Given the description of an element on the screen output the (x, y) to click on. 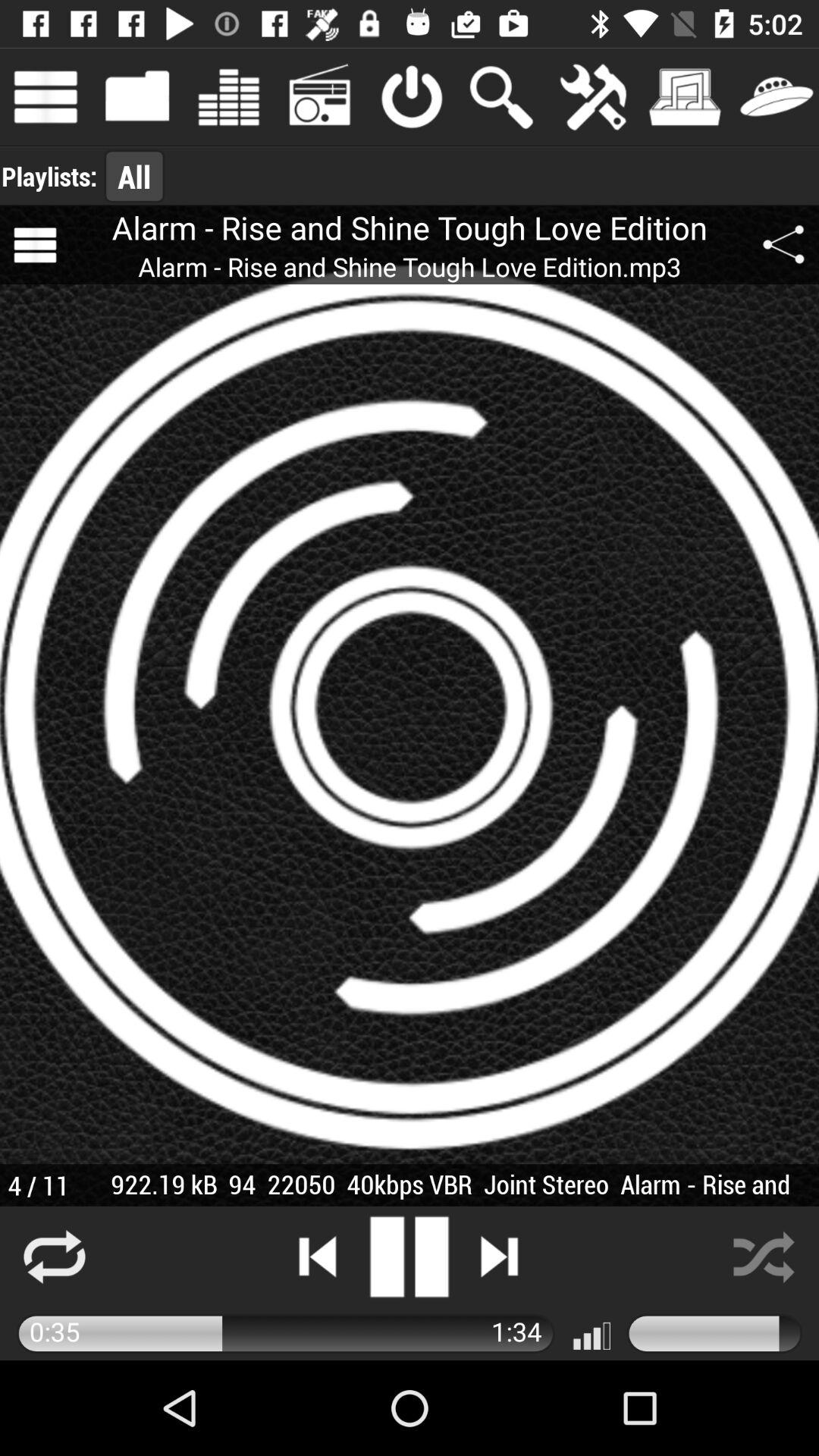
swipe to 4 / 11 icon (38, 1185)
